Given the description of an element on the screen output the (x, y) to click on. 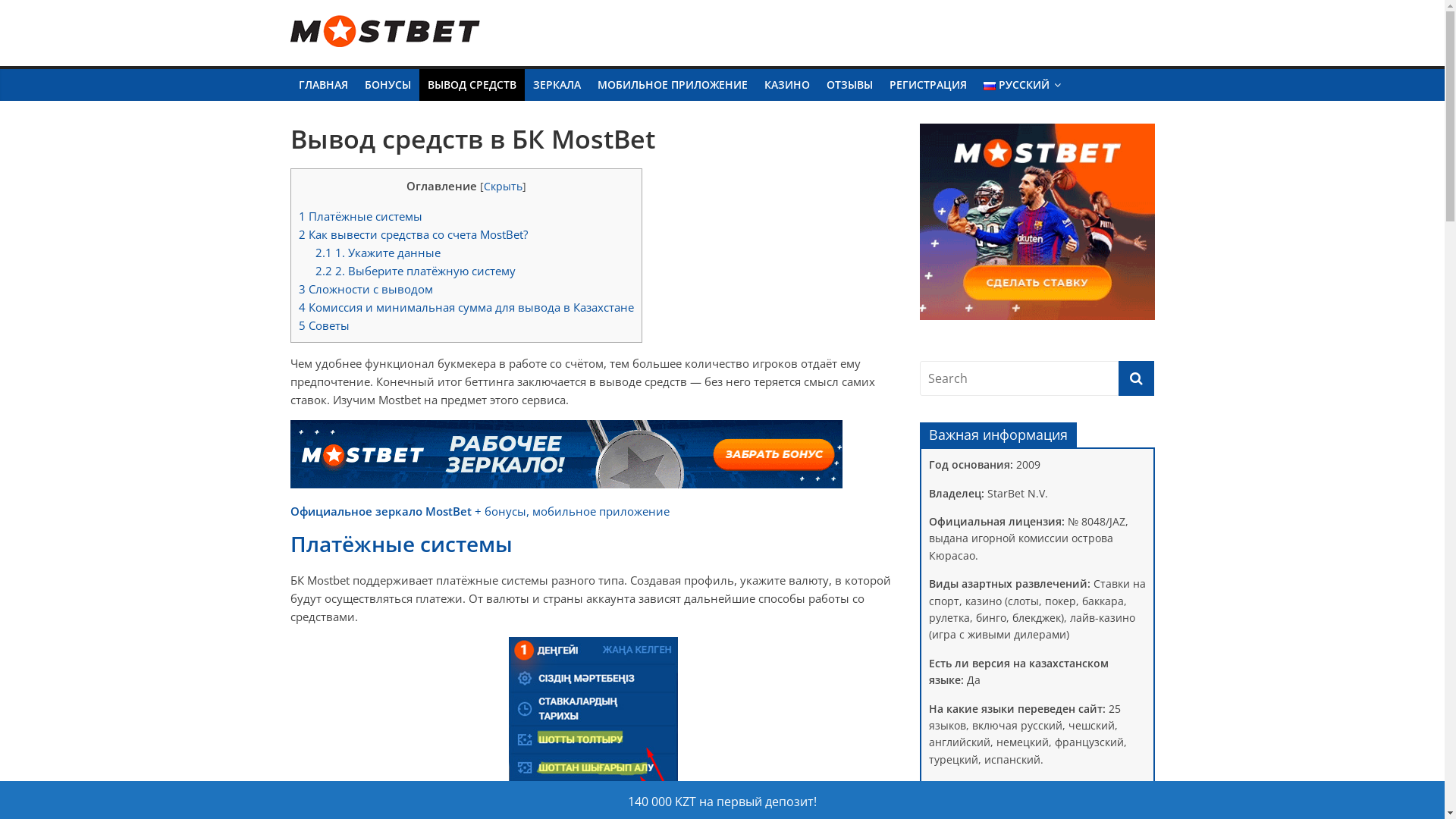
MostBet KZ Element type: text (357, 55)
